Given the description of an element on the screen output the (x, y) to click on. 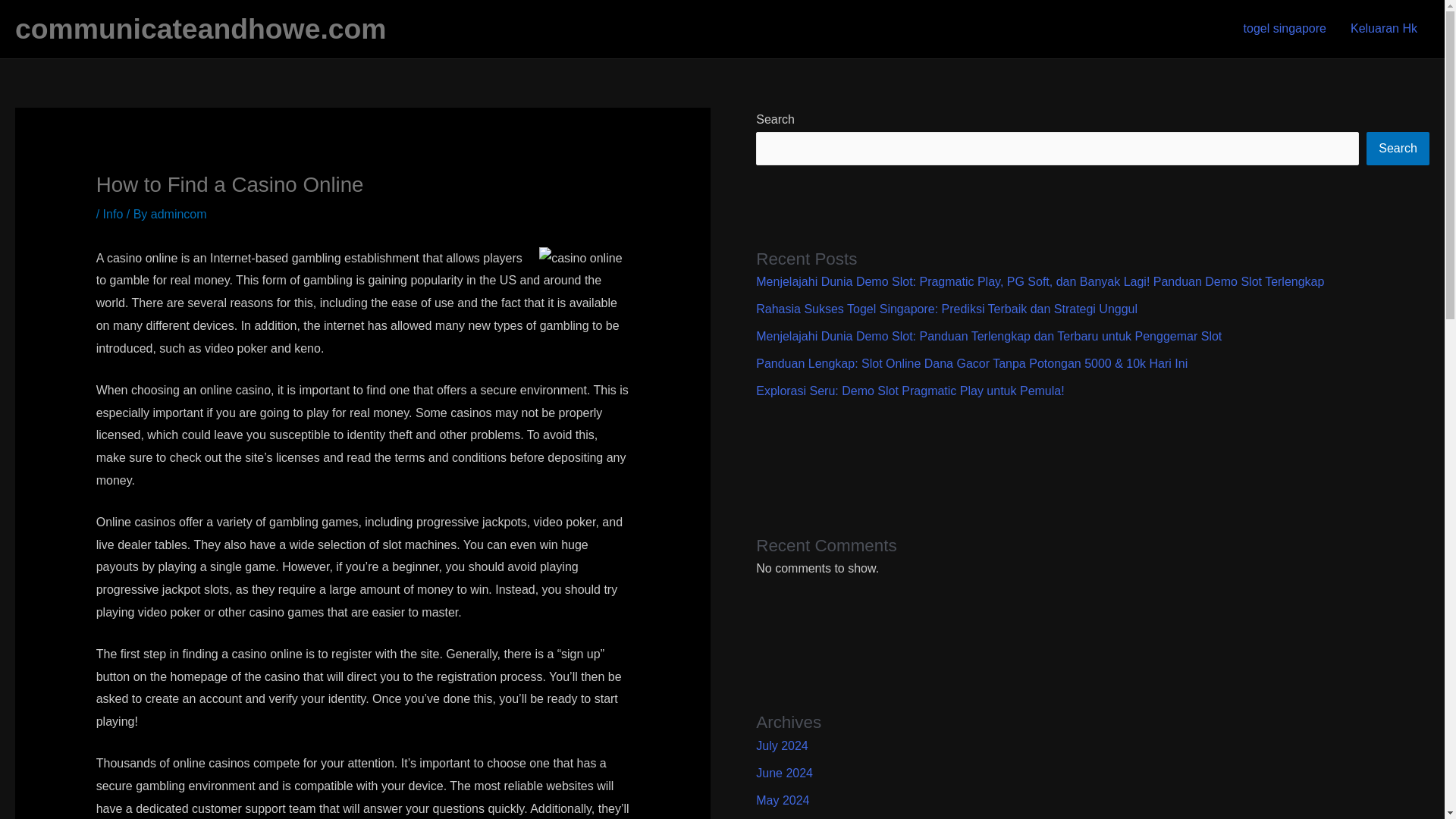
June 2024 (783, 772)
Info (113, 214)
July 2024 (781, 745)
admincom (178, 214)
togel singapore (1284, 28)
Keluaran Hk (1383, 28)
Explorasi Seru: Demo Slot Pragmatic Play untuk Pemula! (909, 390)
Search (1398, 148)
View all posts by admincom (178, 214)
May 2024 (782, 799)
communicateandhowe.com (200, 29)
